Given the description of an element on the screen output the (x, y) to click on. 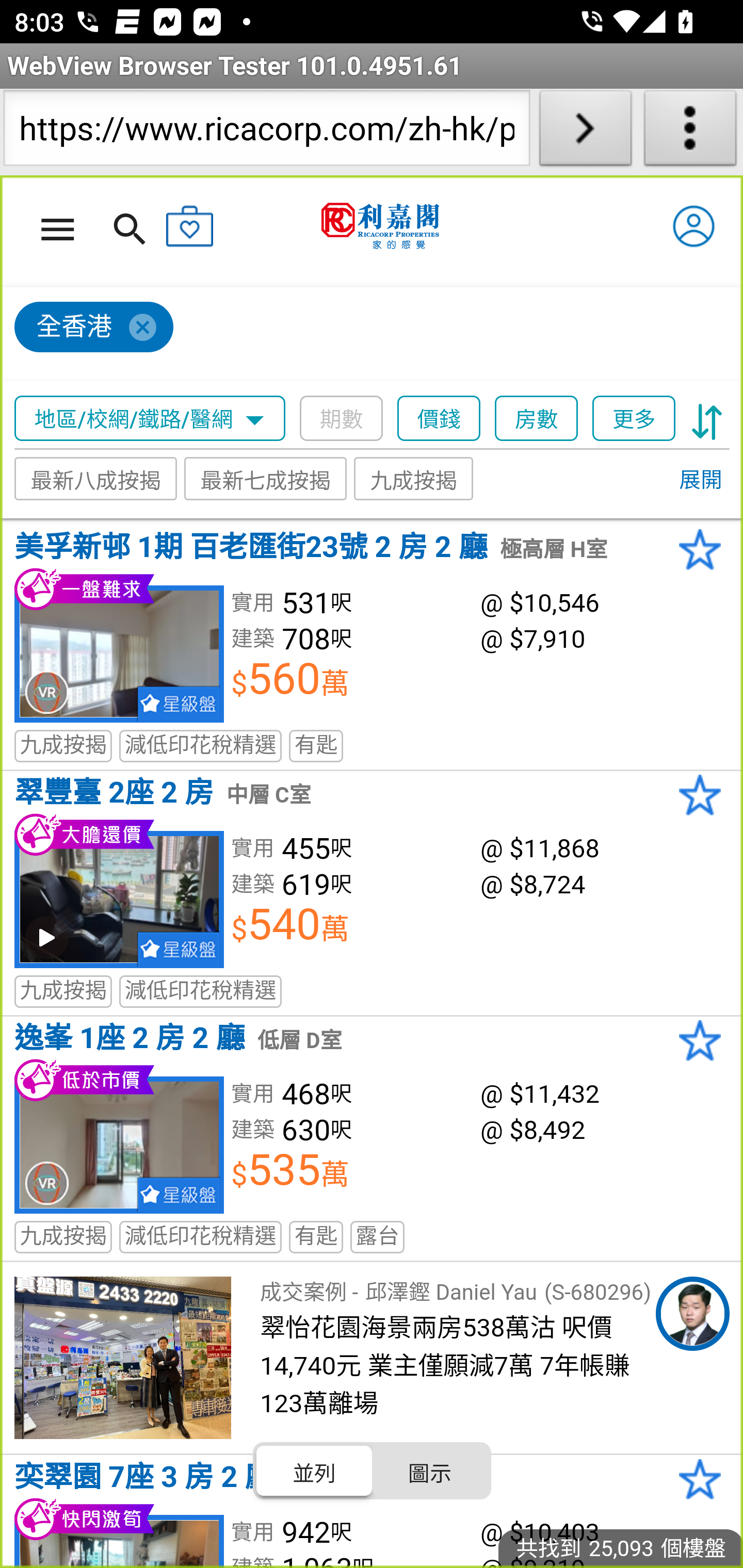
https://www.ricacorp.com/zh-hk/property/list/buy (266, 132)
Load URL (585, 132)
About WebView (690, 132)
全香港 (94, 327)
地區/校網/鐵路/醫網 (150, 418)
期數 (341, 418)
價錢 (439, 418)
房數 (536, 418)
更多 (634, 418)
sort (706, 418)
最新八成按揭 (96, 478)
最新七成按揭 (266, 478)
九成按揭 (413, 478)
展開 (699, 481)
Daniel Yau (692, 1313)
並列 (314, 1470)
圖示 (429, 1470)
